Given the description of an element on the screen output the (x, y) to click on. 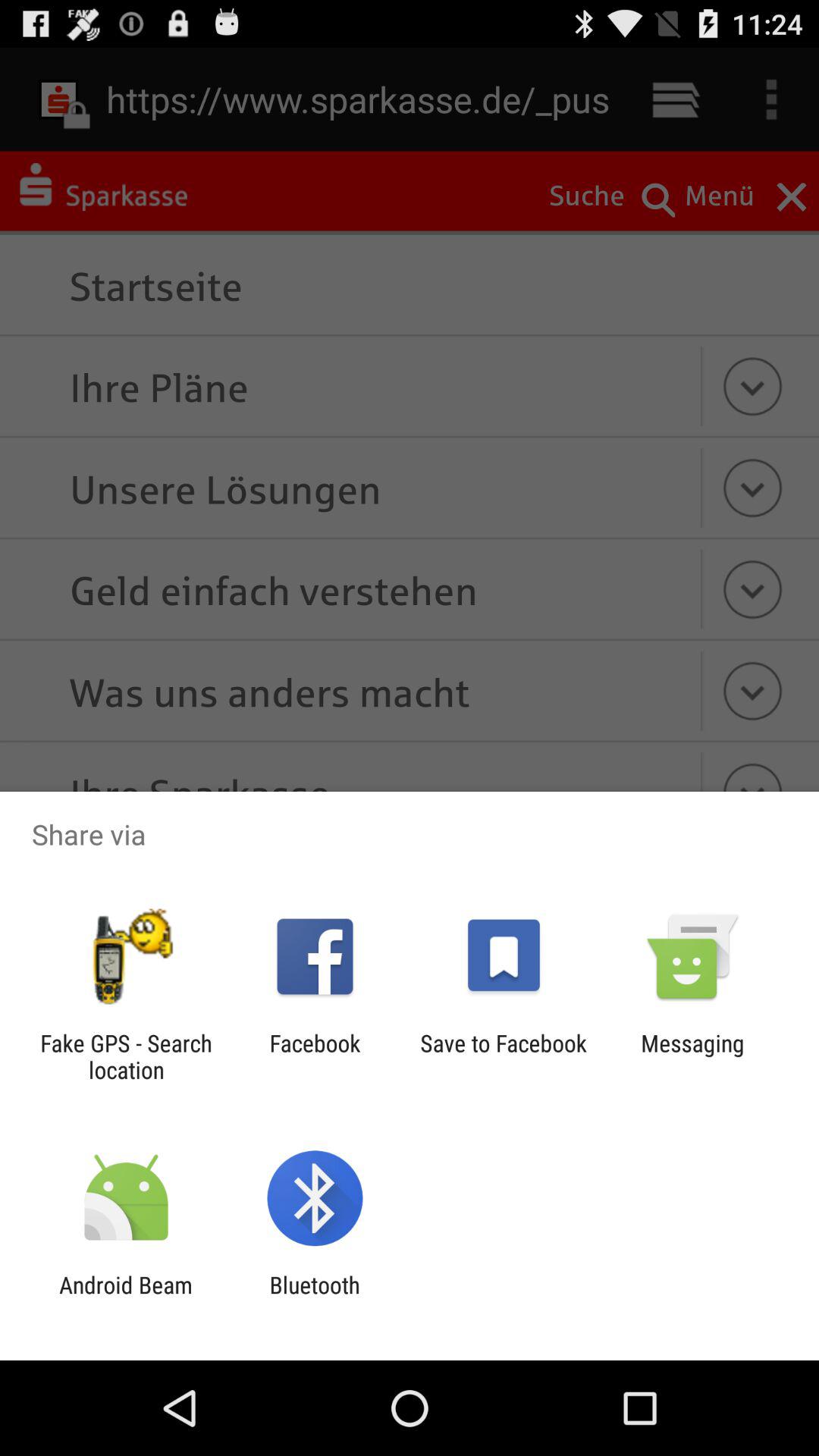
select the app to the left of facebook (125, 1056)
